Given the description of an element on the screen output the (x, y) to click on. 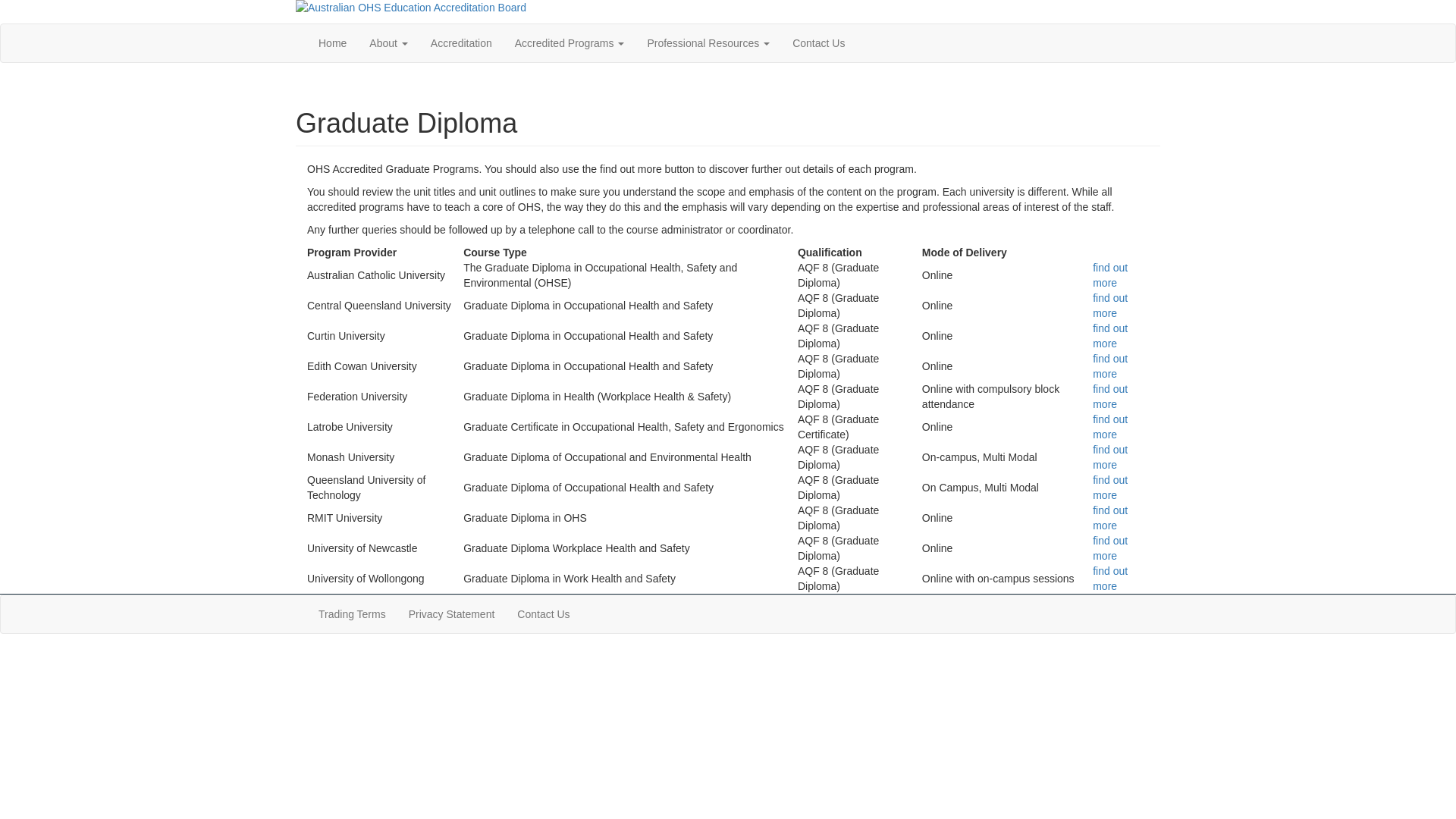
Trading Terms Element type: text (352, 614)
Professional Resources Element type: text (708, 43)
find out more Element type: text (1109, 426)
Contact Us Element type: text (542, 614)
find out more Element type: text (1109, 578)
find out more Element type: text (1109, 305)
find out more Element type: text (1109, 396)
Contact Us Element type: text (818, 43)
find out more Element type: text (1109, 456)
Privacy Statement Element type: text (451, 614)
Accreditation Element type: text (461, 43)
find out more Element type: text (1109, 274)
Home Element type: text (332, 43)
find out more Element type: text (1109, 487)
Accredited Programs Element type: text (569, 43)
find out more Element type: text (1109, 517)
find out more Element type: text (1109, 365)
About Element type: text (387, 43)
find out more Element type: text (1109, 335)
find out more Element type: text (1109, 547)
